Given the description of an element on the screen output the (x, y) to click on. 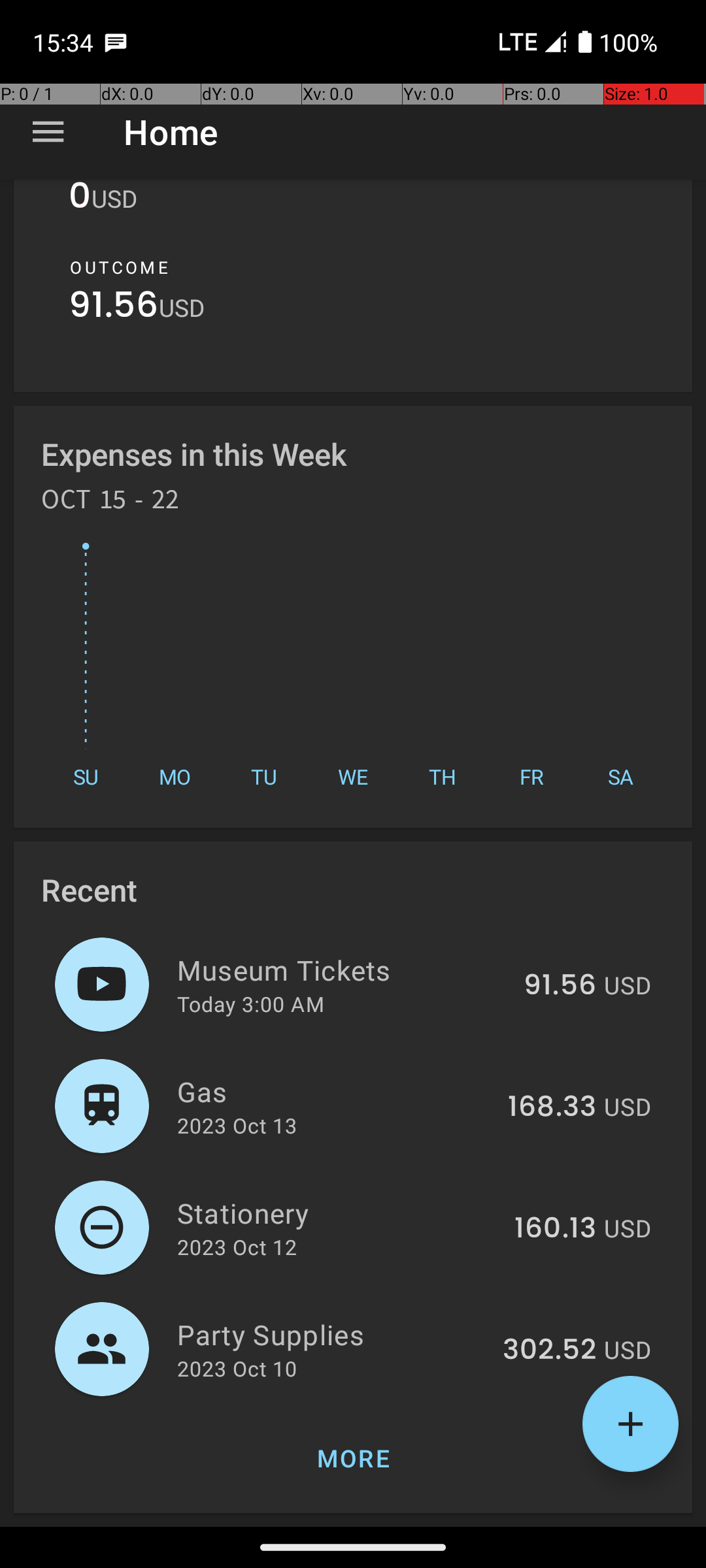
91.56 Element type: android.widget.TextView (113, 307)
Museum Tickets Element type: android.widget.TextView (342, 969)
Today 3:00 AM Element type: android.widget.TextView (250, 1003)
Gas Element type: android.widget.TextView (334, 1091)
168.33 Element type: android.widget.TextView (551, 1106)
Stationery Element type: android.widget.TextView (338, 1212)
160.13 Element type: android.widget.TextView (554, 1228)
Party Supplies Element type: android.widget.TextView (332, 1334)
302.52 Element type: android.widget.TextView (549, 1350)
